Given the description of an element on the screen output the (x, y) to click on. 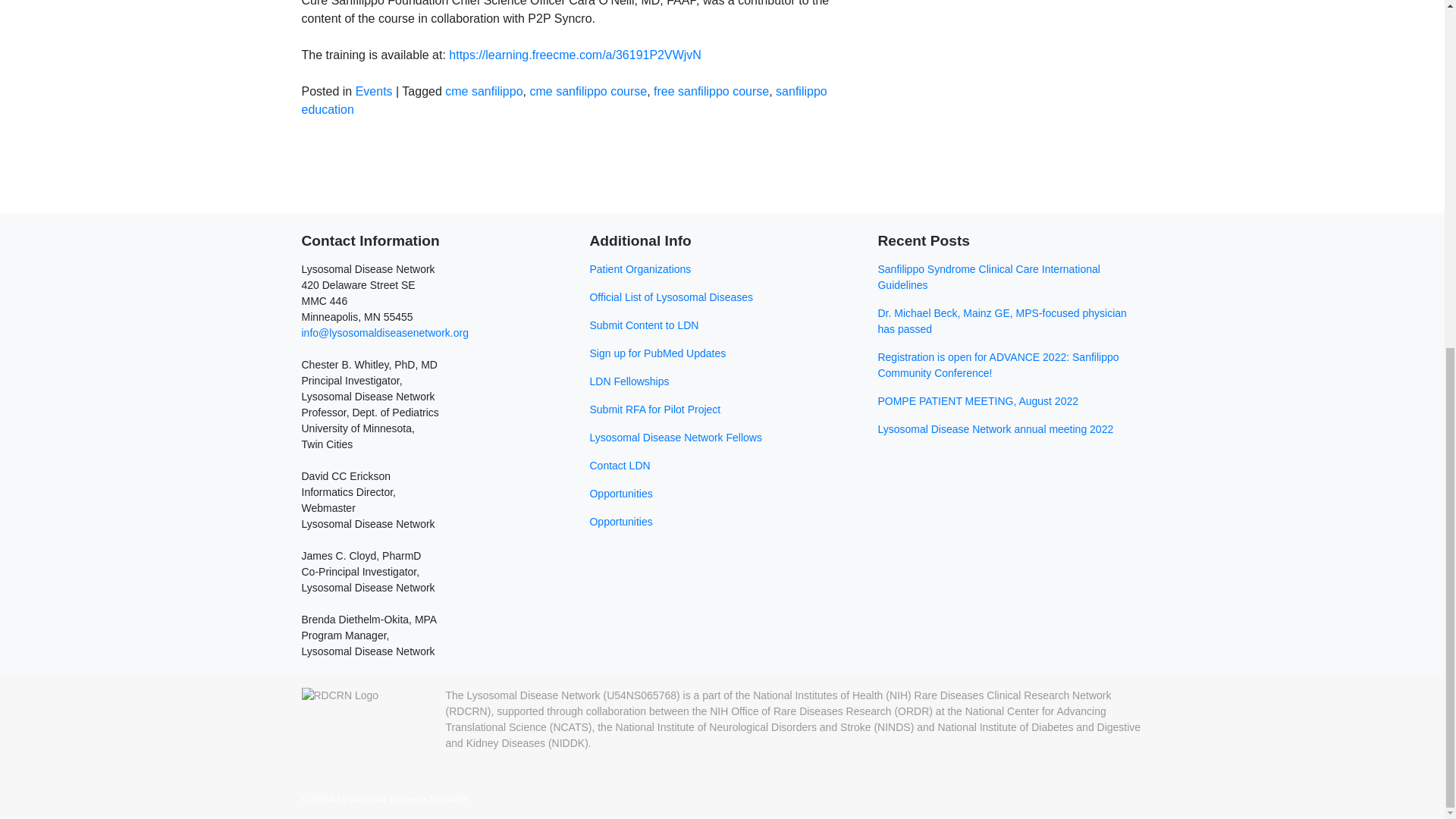
Sign up for PubMed Updates (721, 359)
cme sanfilippo course (587, 91)
Events (374, 91)
Submit RFA for Pilot Project (721, 415)
cme sanfilippo (483, 91)
Contact LDN (721, 471)
Lysosomal Disease Network Fellows (721, 443)
Patient Organizations (721, 275)
Submit Content to LDN (721, 331)
LDN Fellowships (721, 387)
Official List of Lysosomal Diseases (721, 303)
free sanfilippo course (710, 91)
sanfilippo education (564, 100)
